Given the description of an element on the screen output the (x, y) to click on. 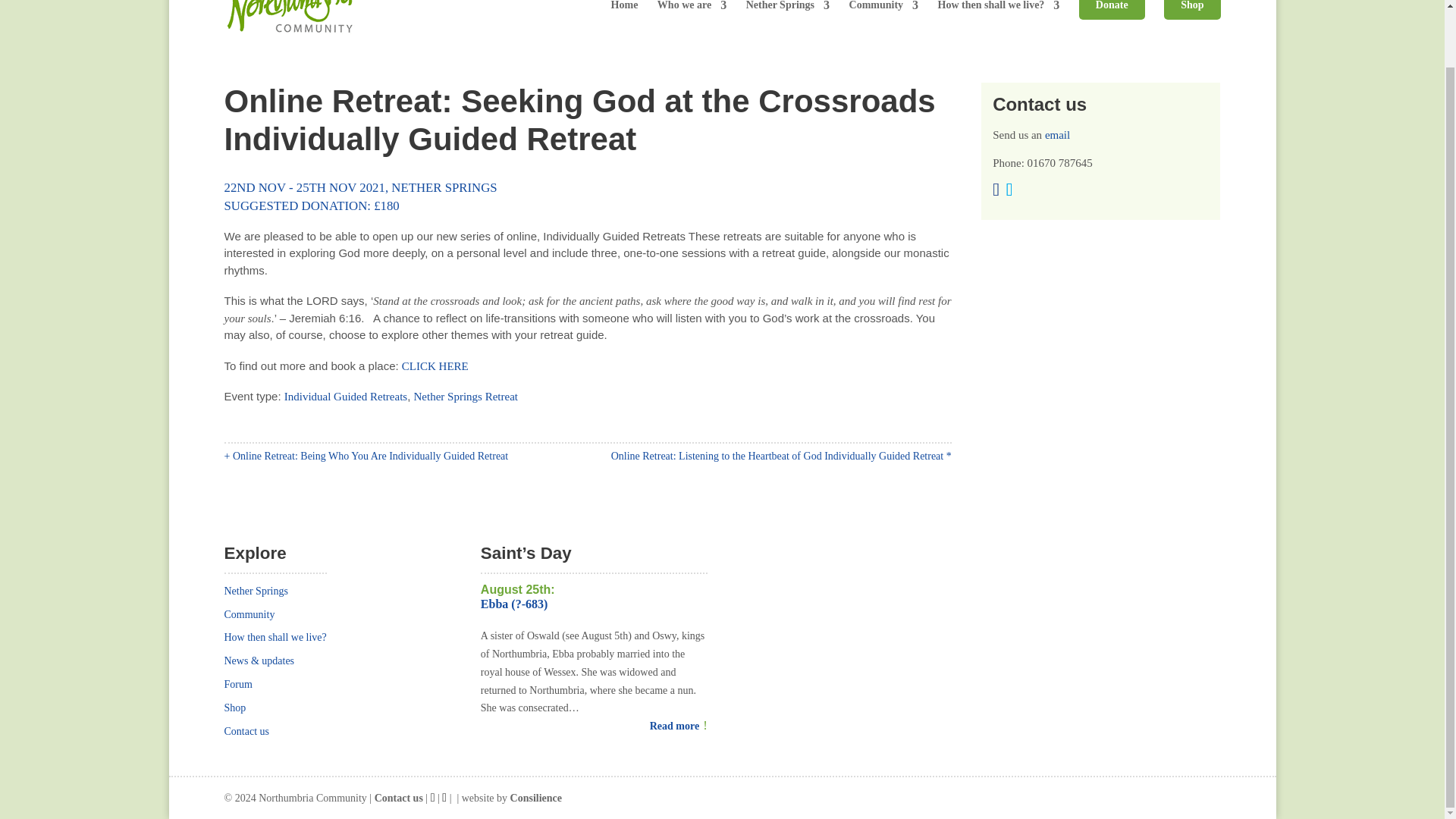
Who we are (692, 9)
Home (625, 9)
Nether Springs (787, 9)
Community (883, 9)
How then shall we live? (998, 9)
